Given the description of an element on the screen output the (x, y) to click on. 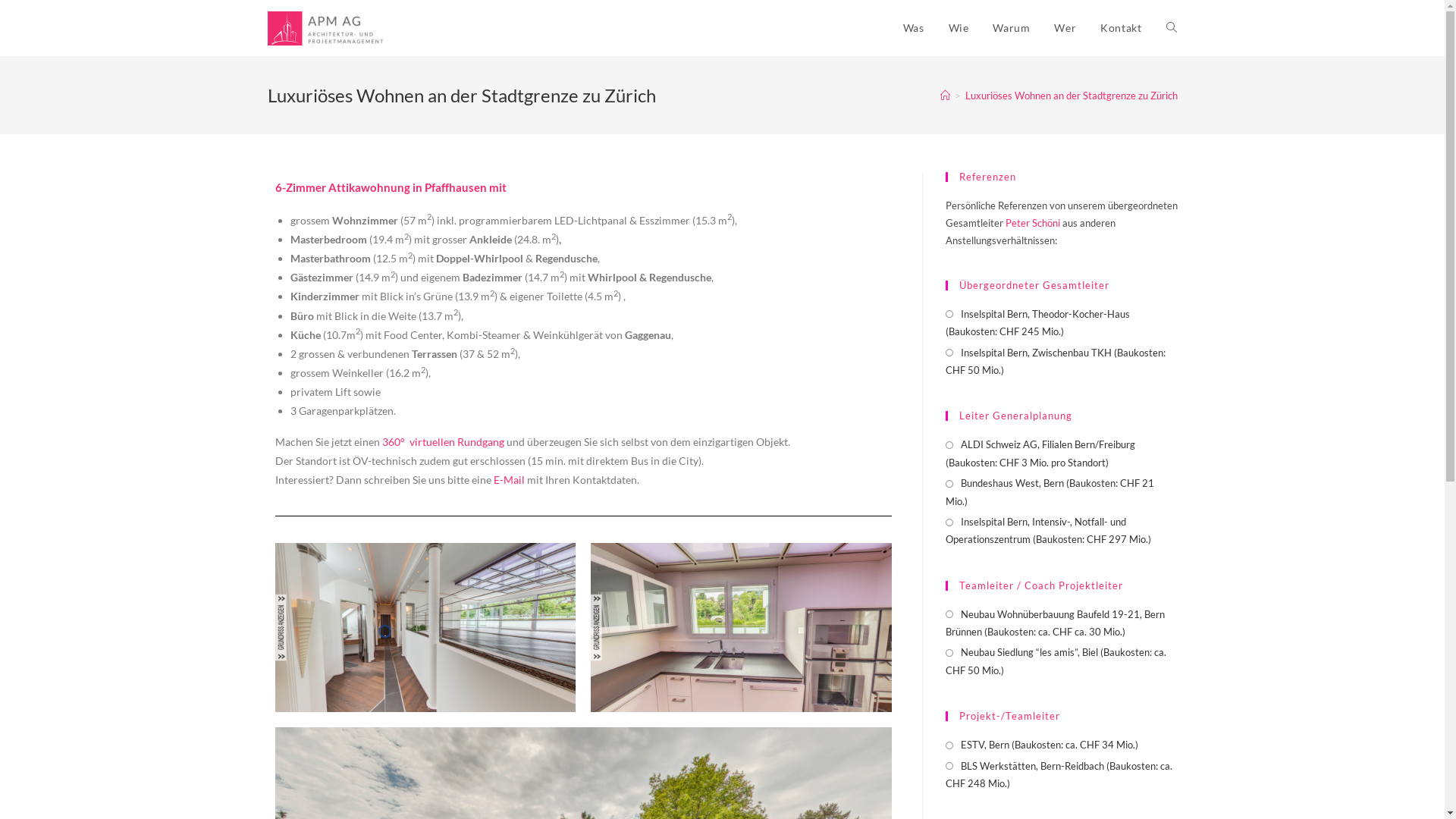
Wer Element type: text (1064, 28)
Warum Element type: text (1010, 28)
Inselspital Bern, Zwischenbau TKH (Baukosten: CHF 50 Mio.) Element type: text (1060, 361)
Was Element type: text (913, 28)
ESTV, Bern (Baukosten: ca. CHF 34 Mio.) Element type: text (1040, 744)
Bundeshaus West, Bern (Baukosten: CHF 21 Mio.) Element type: text (1060, 492)
Kontakt Element type: text (1120, 28)
E-Mail Element type: text (508, 479)
Wie Element type: text (958, 28)
